Given the description of an element on the screen output the (x, y) to click on. 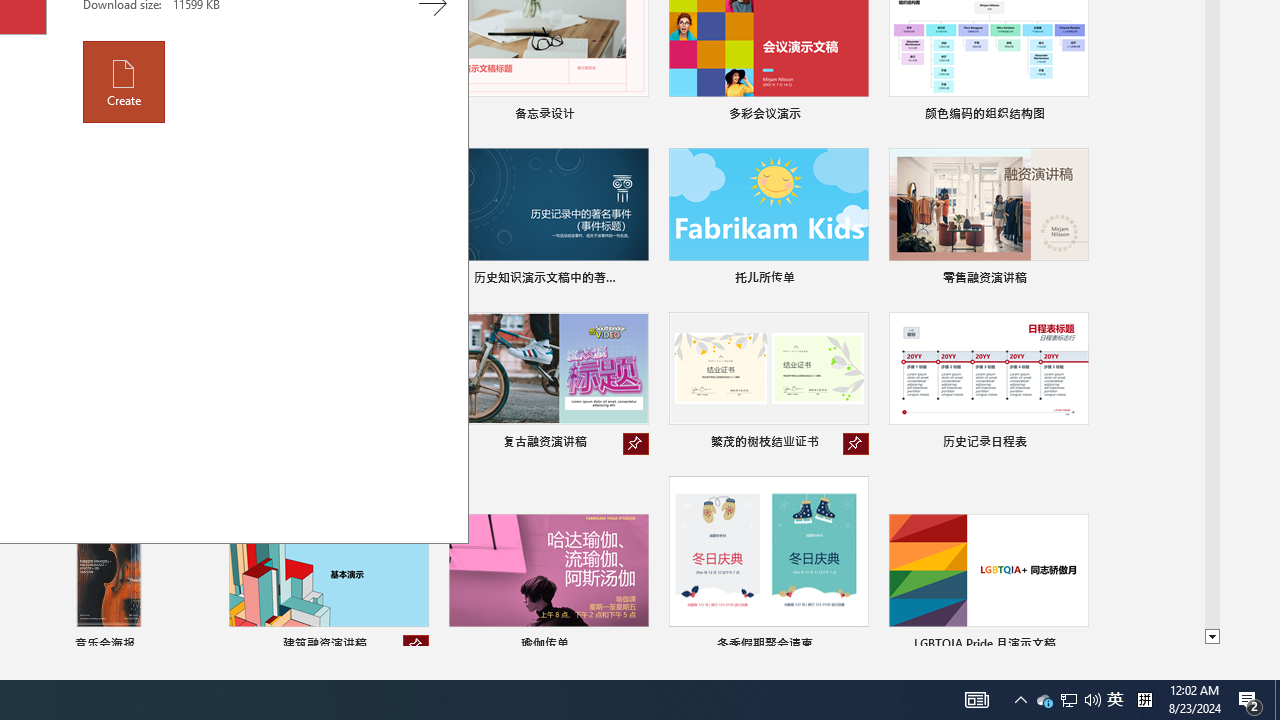
Create (124, 82)
Unpin from list (415, 645)
